Given the description of an element on the screen output the (x, y) to click on. 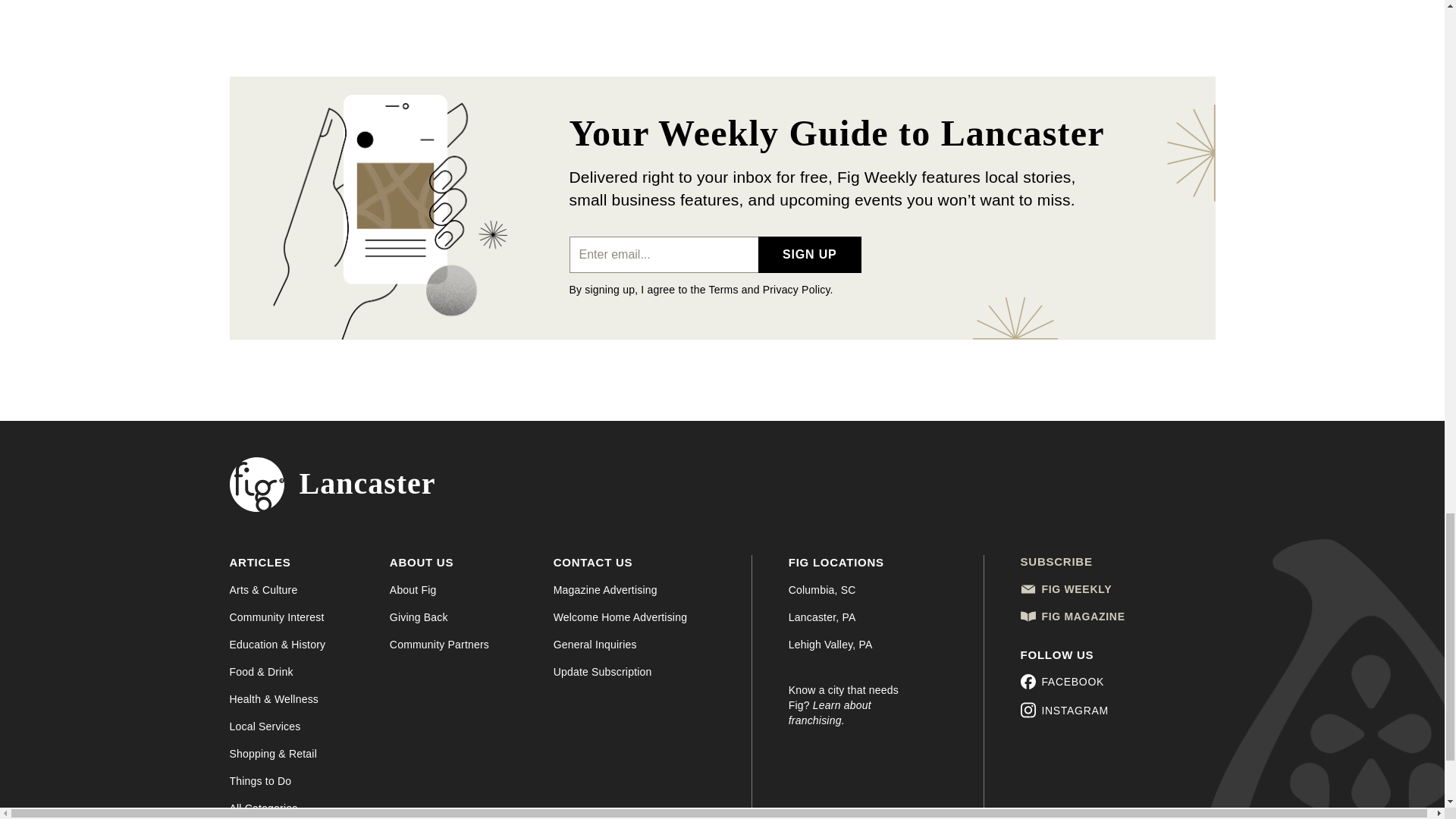
Lancaster (331, 484)
SIGN UP (809, 254)
ARTICLES (258, 566)
